Given the description of an element on the screen output the (x, y) to click on. 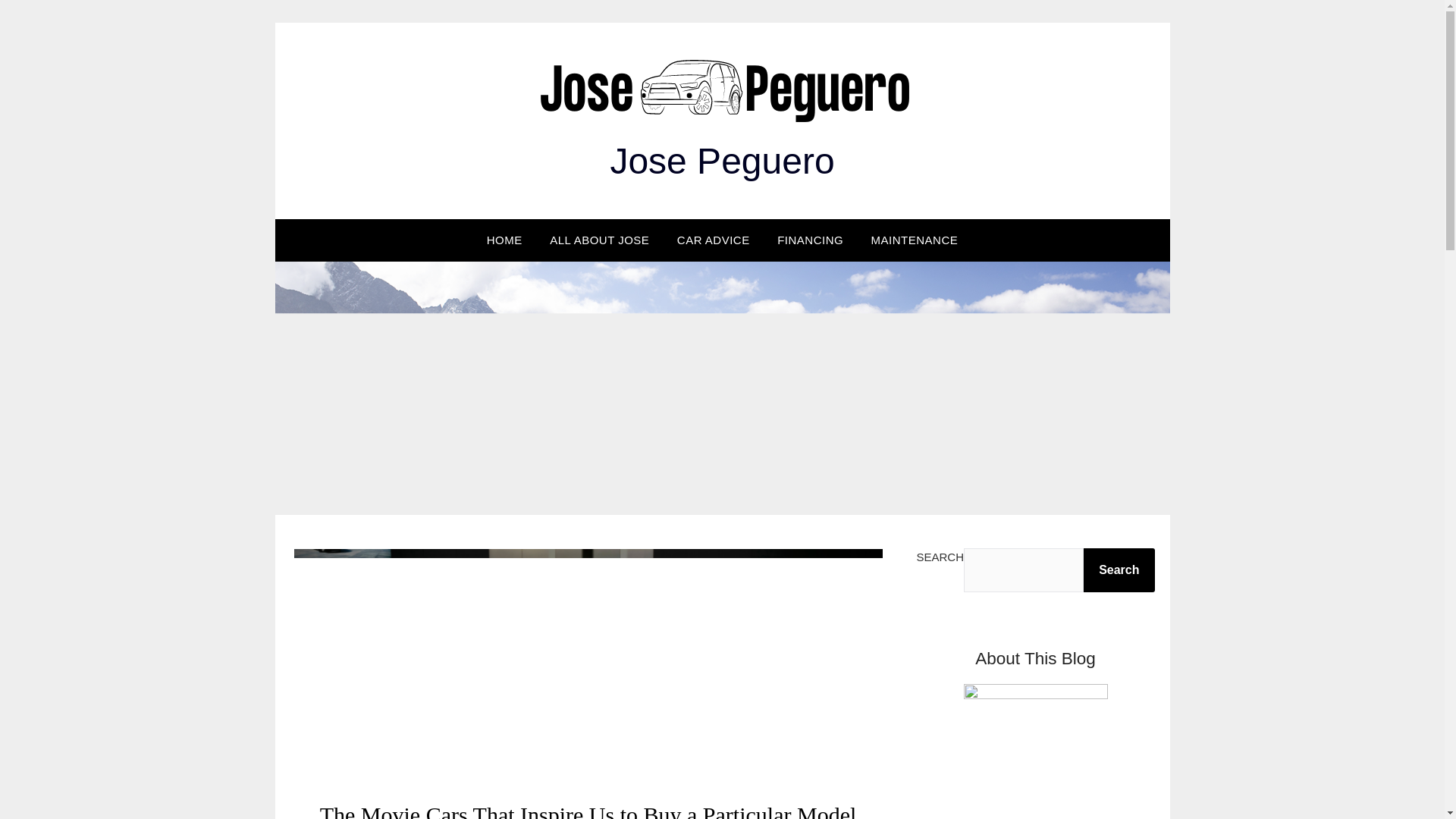
ALL ABOUT JOSE (599, 240)
FINANCING (810, 240)
MAINTENANCE (915, 240)
CAR ADVICE (713, 240)
Search (1118, 569)
Jose Peguero (722, 160)
HOME (504, 240)
